Given the description of an element on the screen output the (x, y) to click on. 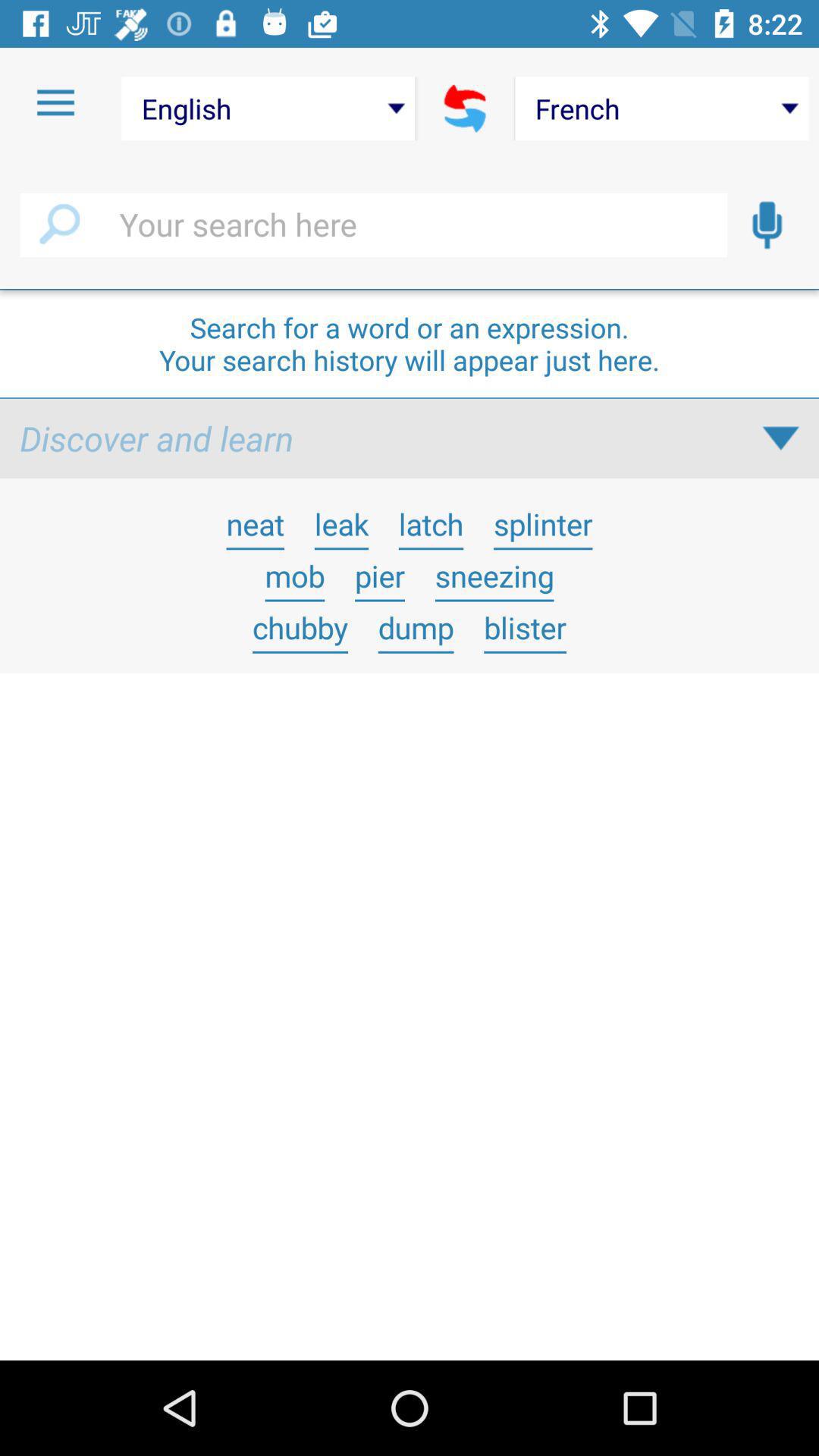
click item next to the blister icon (415, 627)
